Given the description of an element on the screen output the (x, y) to click on. 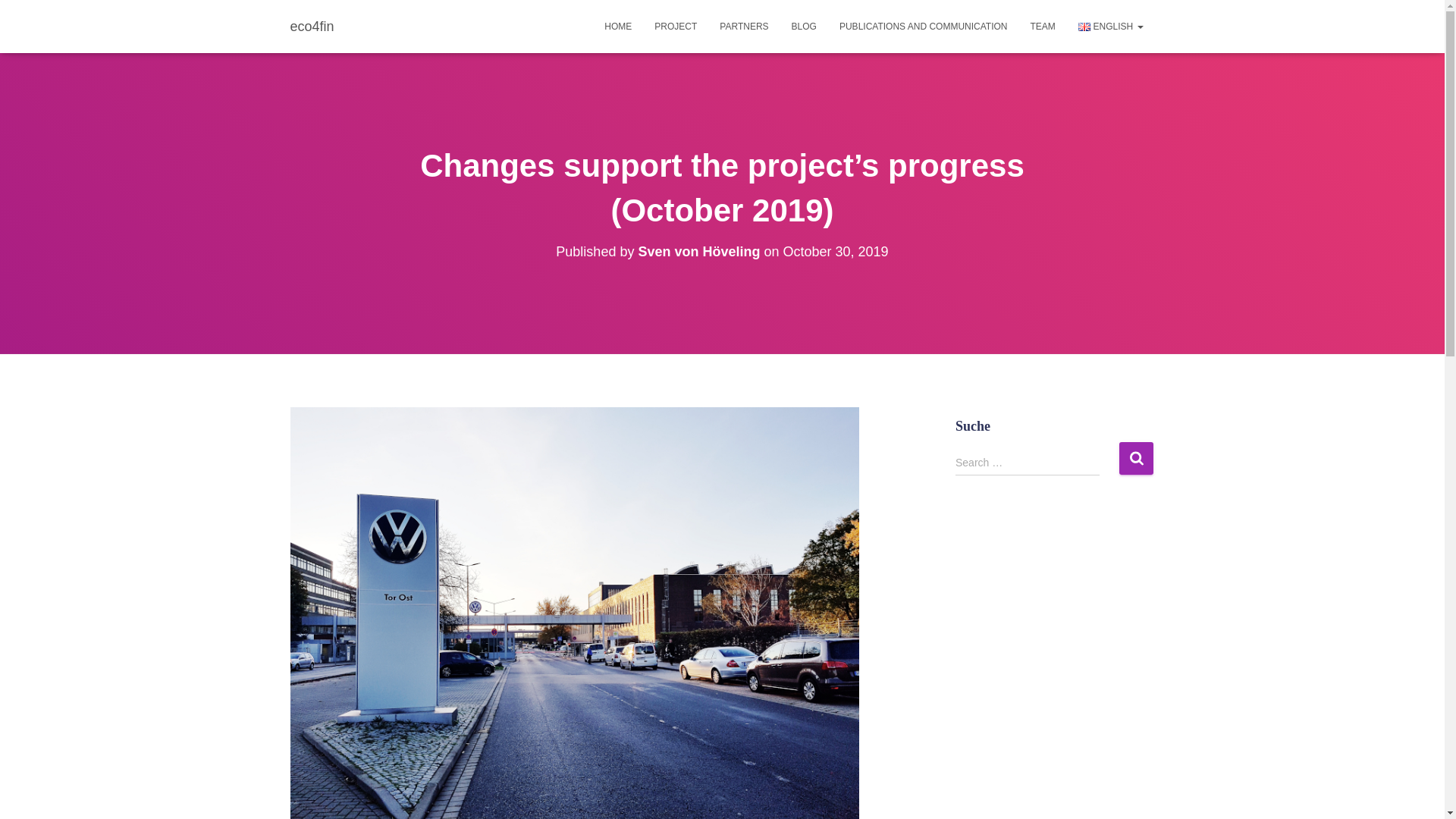
Search (1136, 458)
Search (1136, 458)
Search (1136, 458)
eco4fin (312, 26)
Home (617, 26)
Blog (804, 26)
Partners (742, 26)
PUBLICATIONS AND COMMUNICATION (923, 26)
Publications and Communication (923, 26)
English (1110, 26)
